Given the description of an element on the screen output the (x, y) to click on. 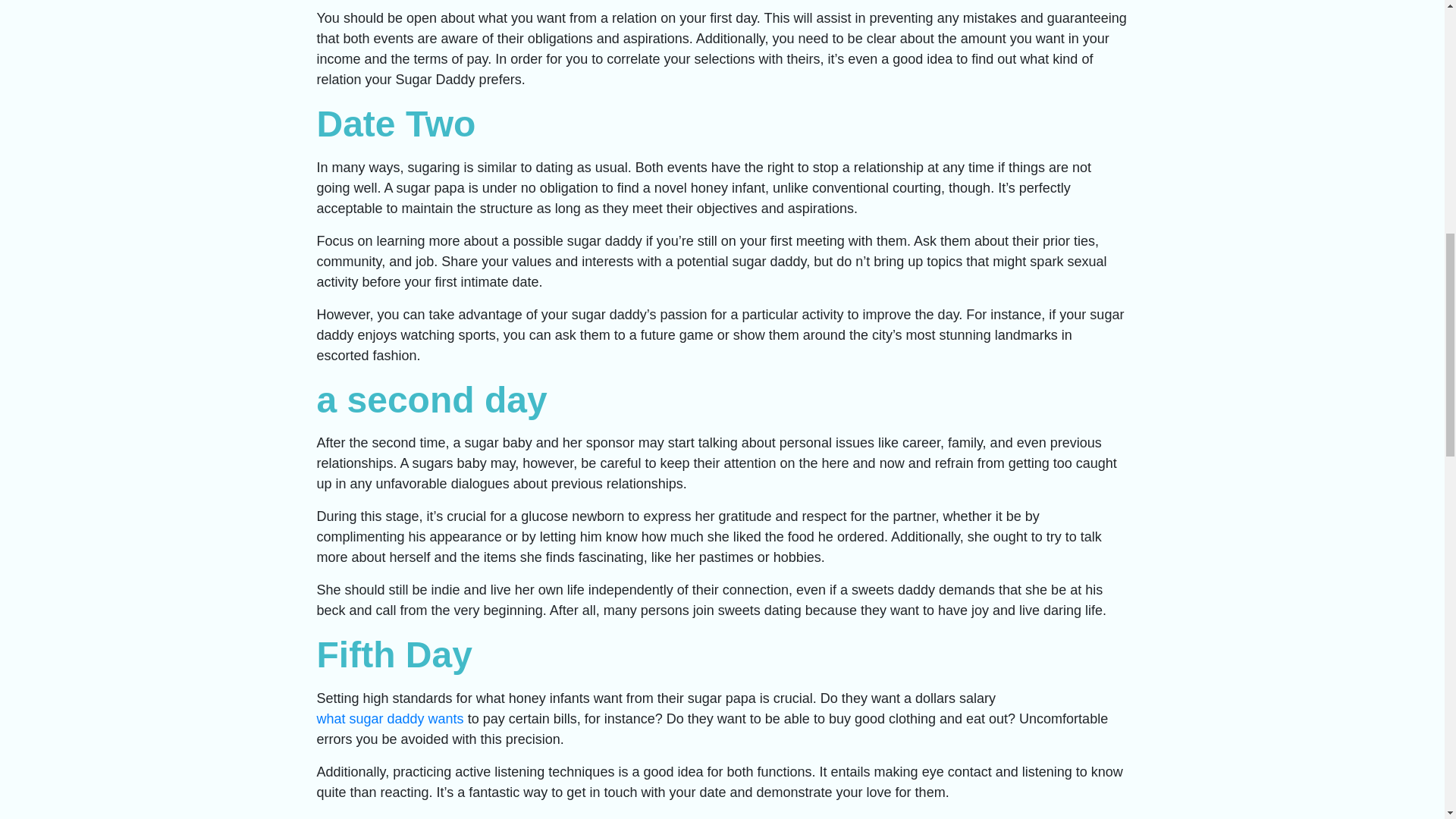
what sugar daddy wants (390, 719)
